Given the description of an element on the screen output the (x, y) to click on. 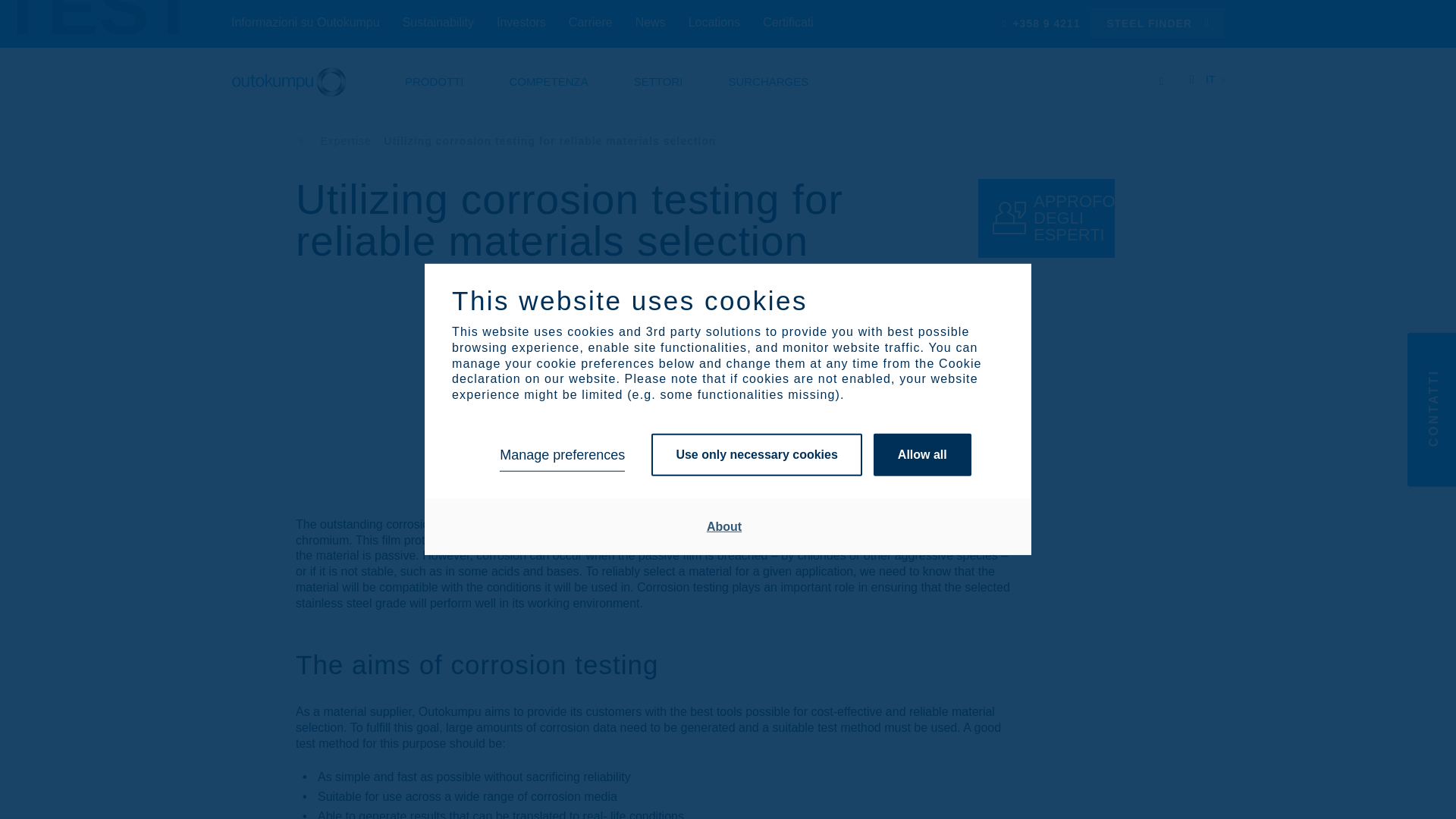
Use only necessary cookies (755, 454)
Manage preferences (561, 454)
About (724, 526)
Allow all (922, 454)
